Given the description of an element on the screen output the (x, y) to click on. 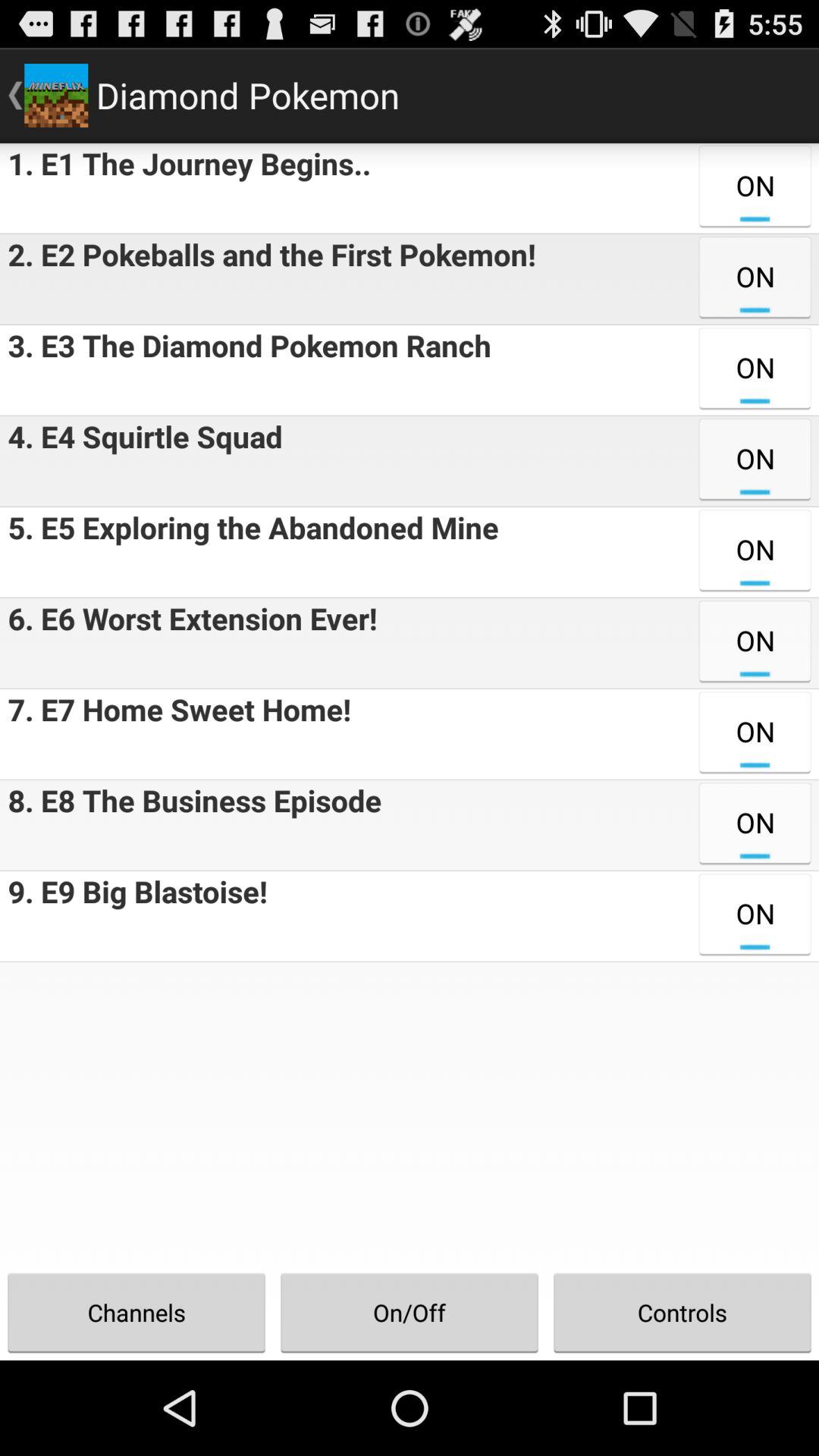
press 1 e1 the icon (185, 188)
